Given the description of an element on the screen output the (x, y) to click on. 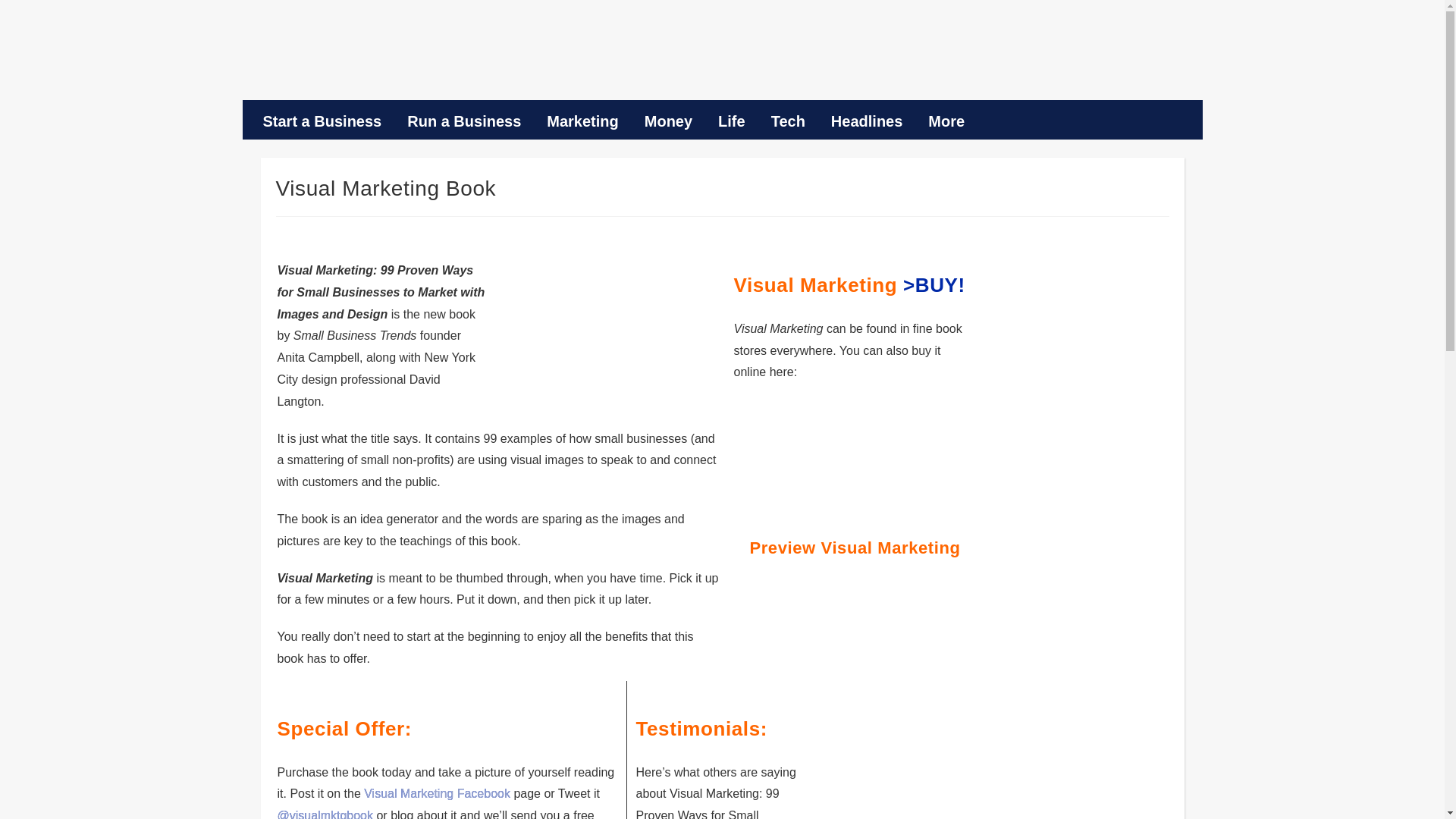
visual-marketing (605, 332)
Headlines (866, 121)
Small Business Trends (351, 58)
amazon-logo-shadow (788, 424)
books-a-million (788, 484)
Small Business Trends (351, 58)
Post Your Photo With the Book and Join Us on Twitter! (437, 793)
Start a Business (322, 121)
Run a Business (464, 121)
barnes-noble-logo (900, 424)
